Given the description of an element on the screen output the (x, y) to click on. 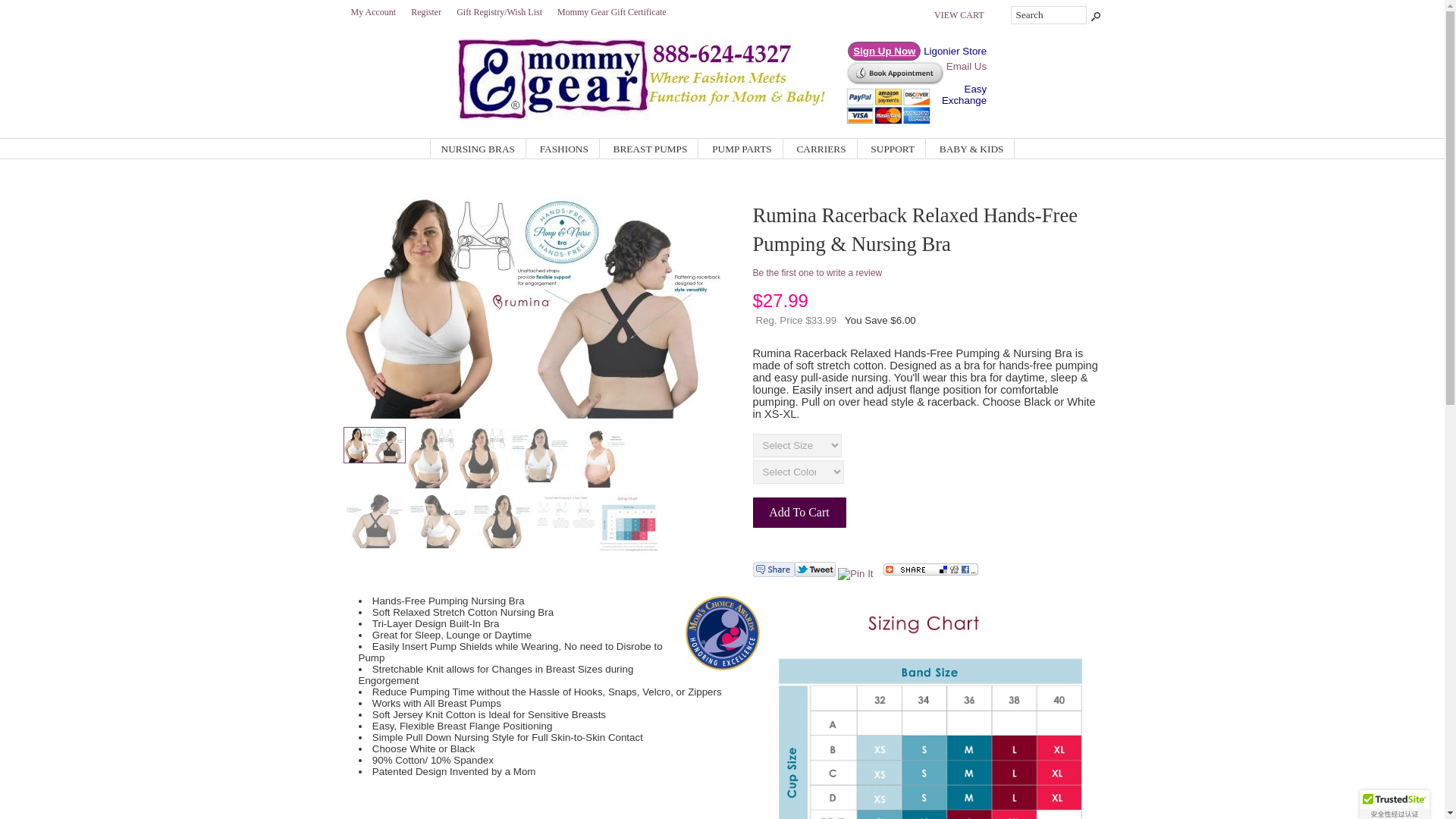
Mommy Gear (651, 116)
Add To Cart (798, 512)
Go (1093, 14)
Search (1048, 14)
Nursing Bras (477, 148)
My Account (372, 11)
Ligonier Store (955, 50)
VIEW CART (959, 14)
Register (425, 11)
Sign Up Now (883, 50)
Mommy Gear Gift Certificate (612, 11)
Register (425, 11)
VIEW CART (959, 14)
Easy Exchange (964, 94)
Go (1093, 14)
